Given the description of an element on the screen output the (x, y) to click on. 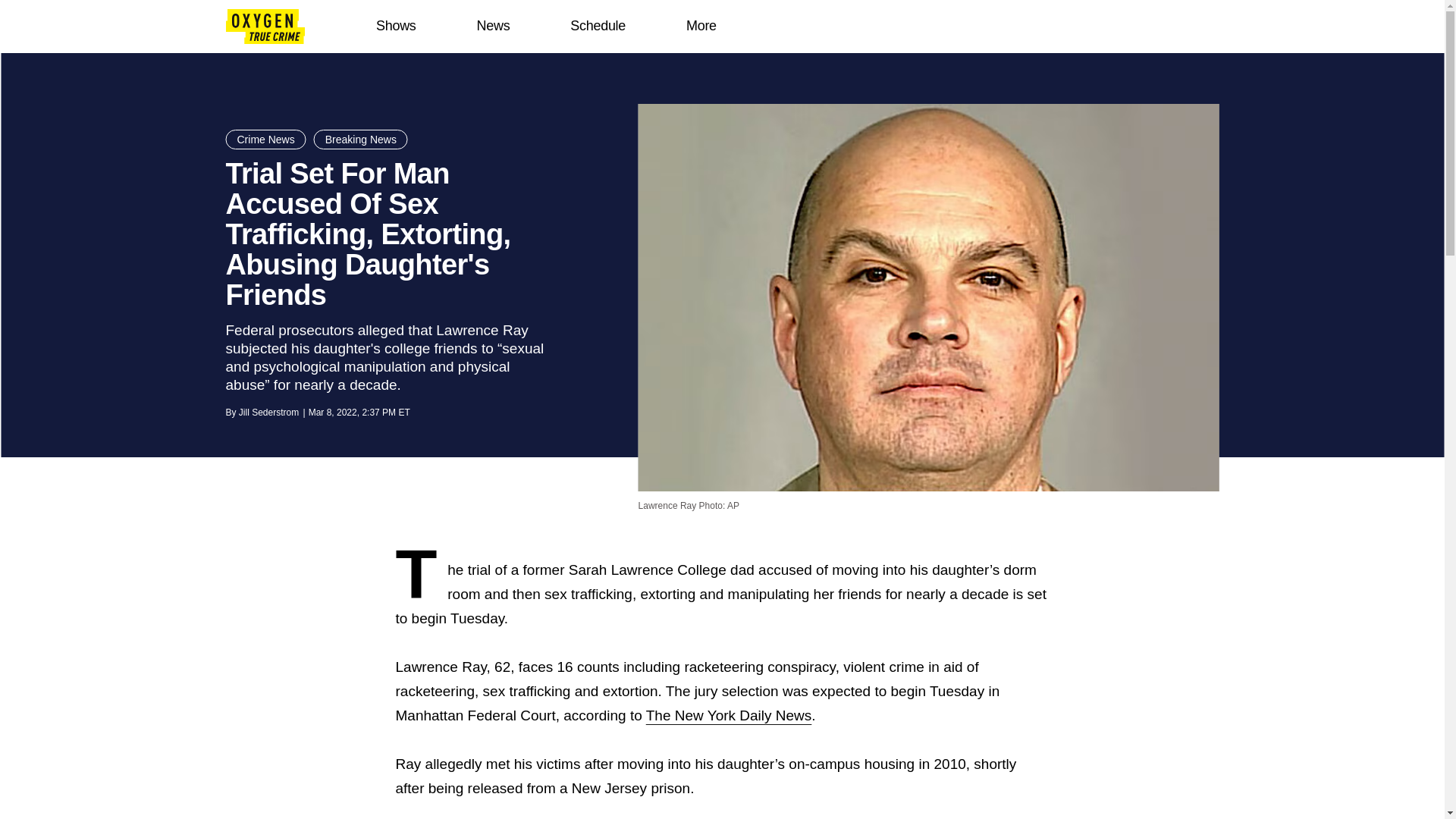
Breaking News (360, 139)
Crime News (265, 139)
More (700, 26)
The New York Daily News (729, 715)
Shows (395, 26)
Jill Sederstrom (268, 412)
Schedule (598, 26)
News (492, 26)
